Given the description of an element on the screen output the (x, y) to click on. 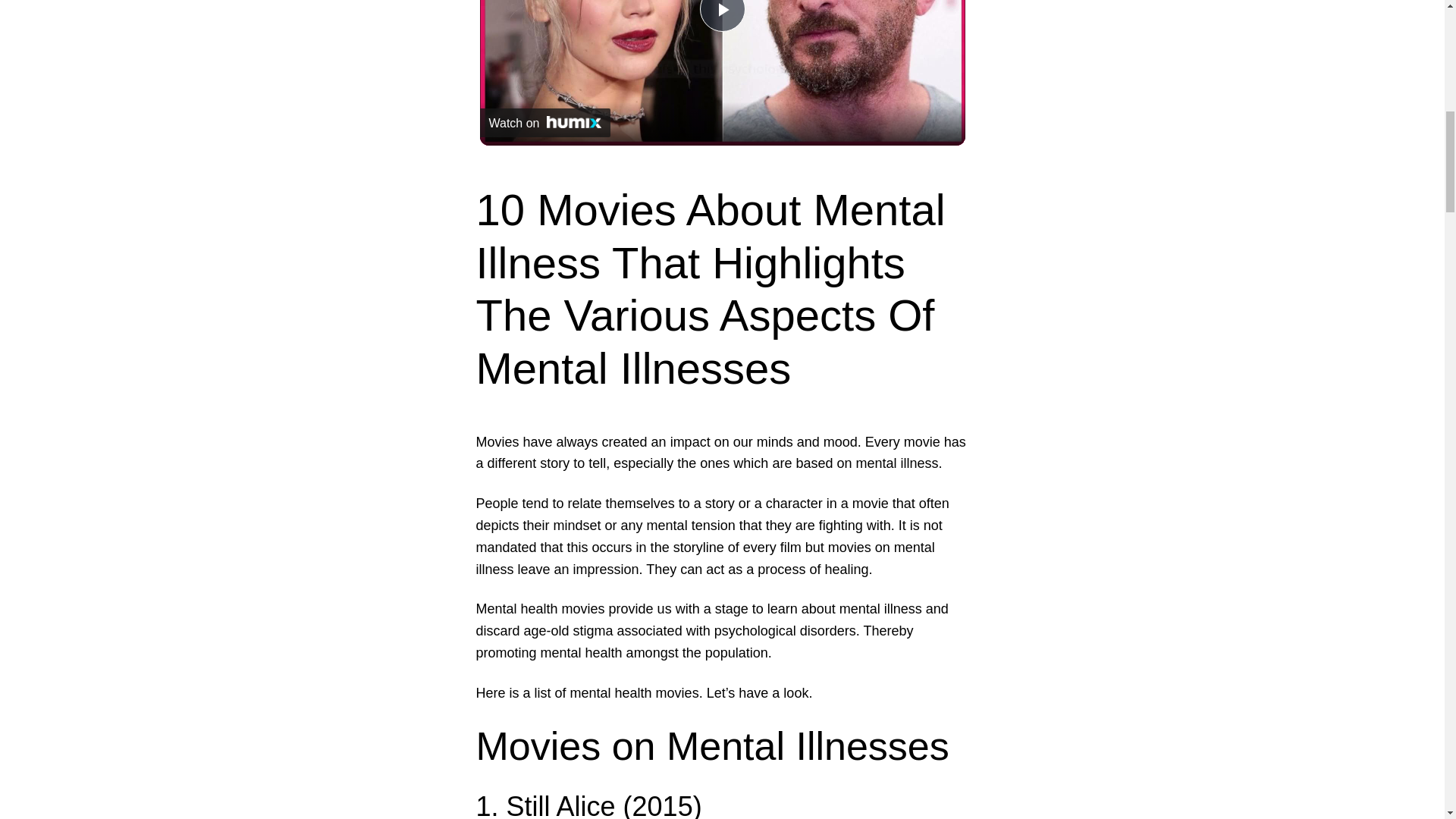
Watch on (544, 122)
Play Video (721, 15)
Play Video (721, 15)
